Given the description of an element on the screen output the (x, y) to click on. 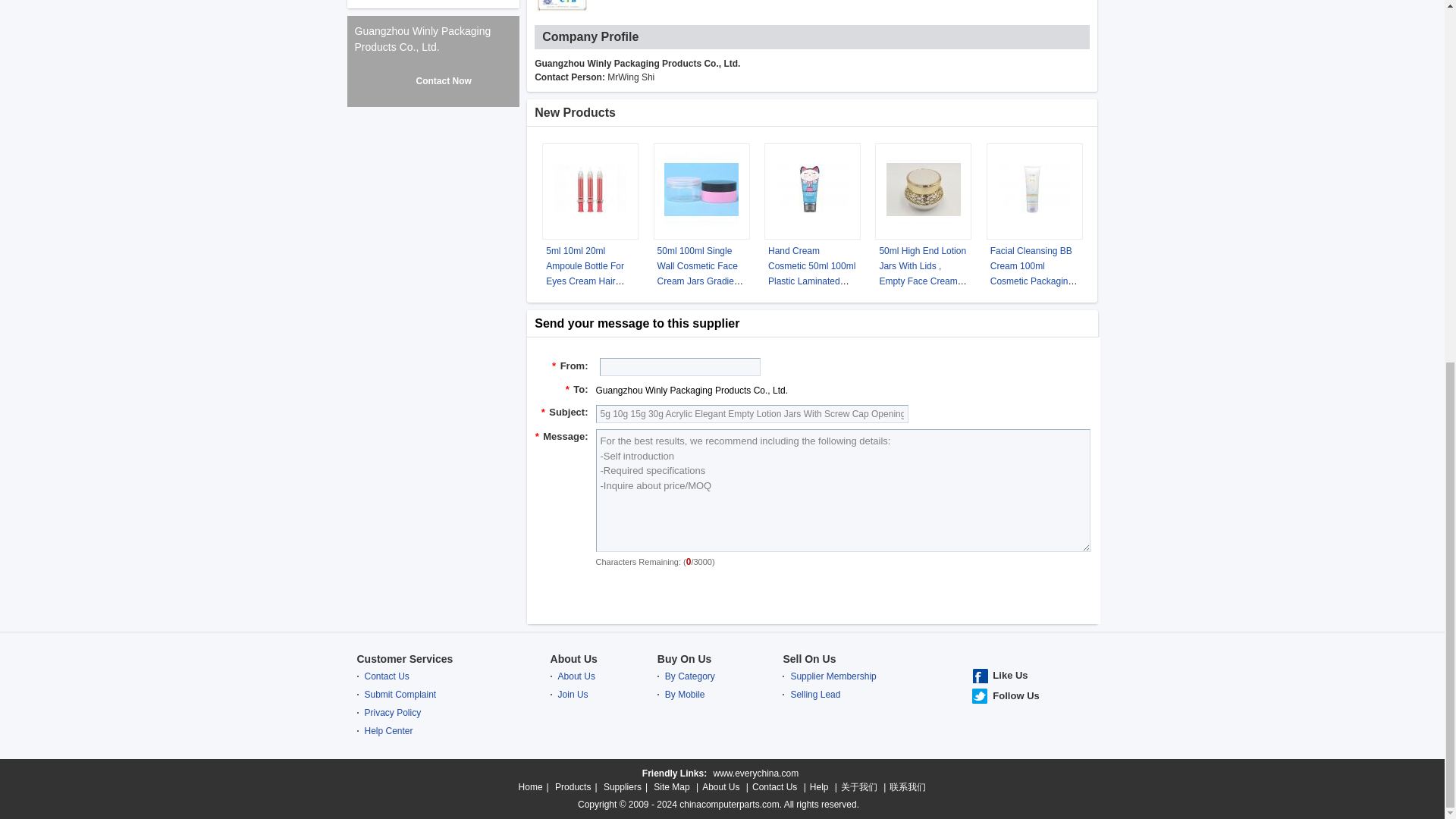
Contact Now (812, 590)
Contact Now (433, 80)
